Given the description of an element on the screen output the (x, y) to click on. 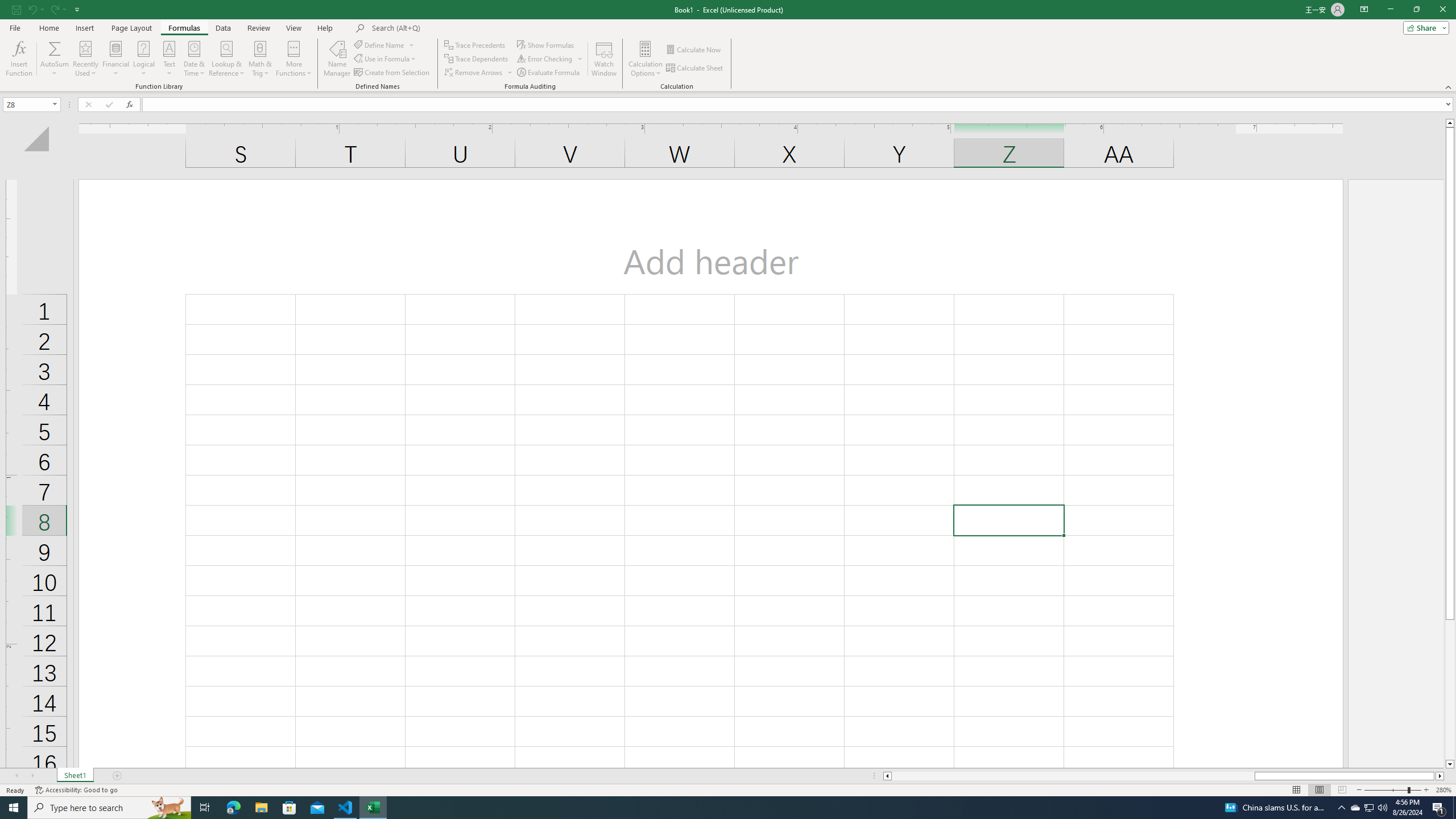
Evaluate Formula (549, 72)
AutoSum (54, 58)
Calculation Options (645, 58)
More Functions (294, 58)
Remove Arrows (474, 72)
Name Manager (336, 58)
Trace Precedents (475, 44)
Date & Time (194, 58)
